Given the description of an element on the screen output the (x, y) to click on. 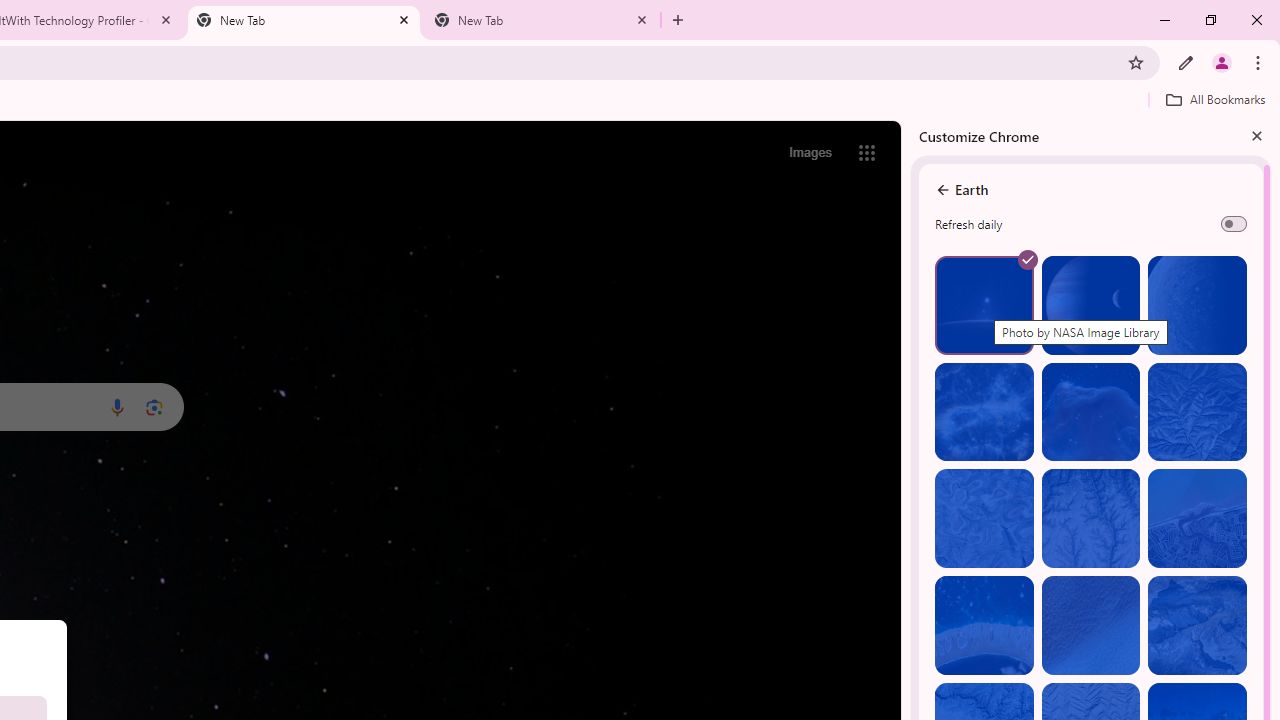
The Tuamotu and Gambier Islands, French Polynesia (984, 625)
Nanggroe Aceh Darussalam, Indonesia (1197, 518)
Kelan, Shanxi, China (1197, 412)
Zermatt, Wallis, Switzerland (1197, 625)
Refresh daily (1233, 223)
AutomationID: svg (1027, 259)
Photo by NASA Image Library (1090, 412)
Customize Chrome (1185, 62)
New Tab (541, 20)
